Given the description of an element on the screen output the (x, y) to click on. 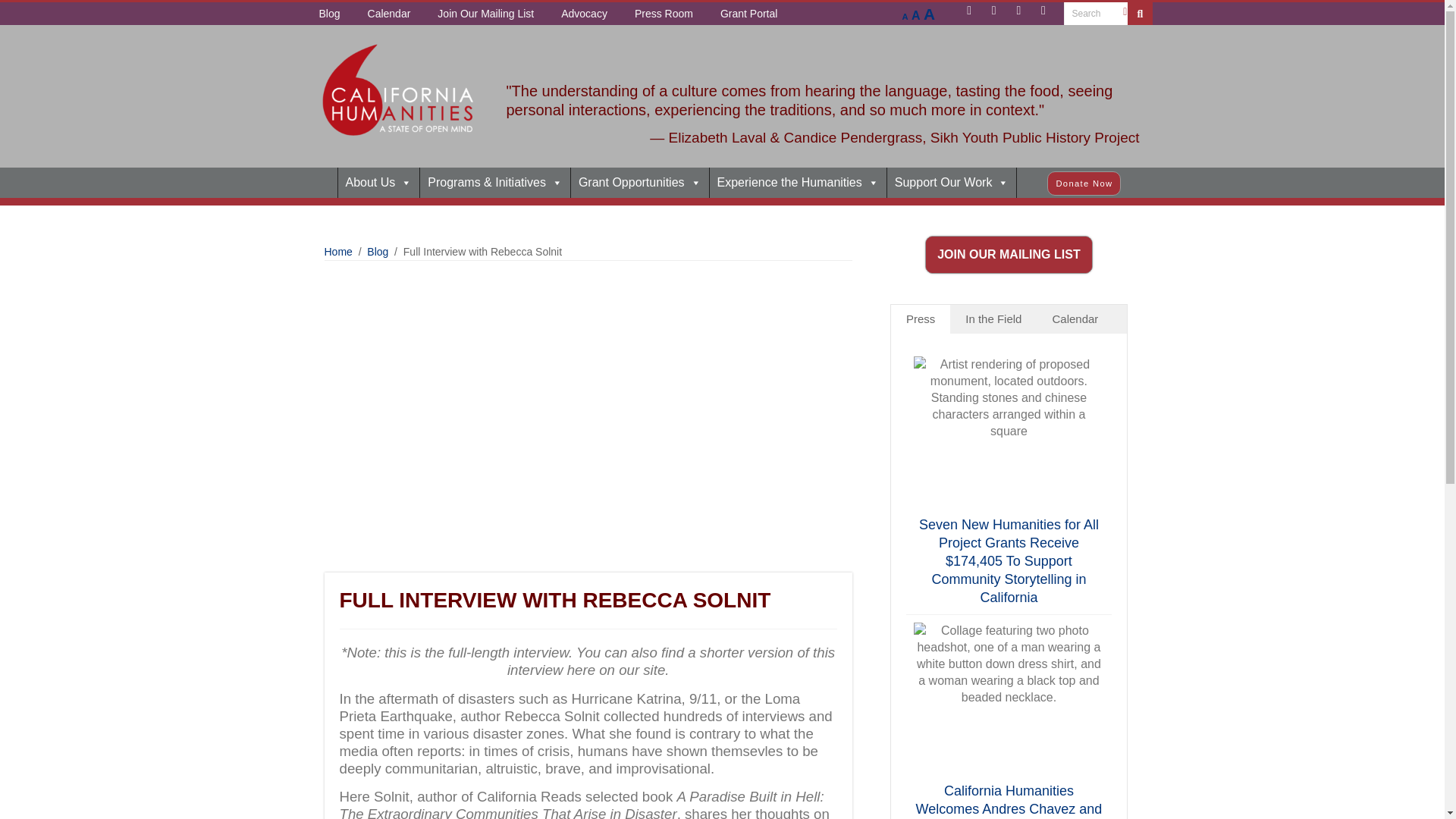
Home (316, 182)
Join Our Mailing List (485, 13)
Calendar (389, 13)
Press Room (663, 13)
Learn about Advocacy (584, 13)
Blog (328, 13)
View the Press Room (663, 13)
Upcoming Events (389, 13)
Sign up to Join Our Mailing List (485, 13)
About Us (378, 182)
